Given the description of an element on the screen output the (x, y) to click on. 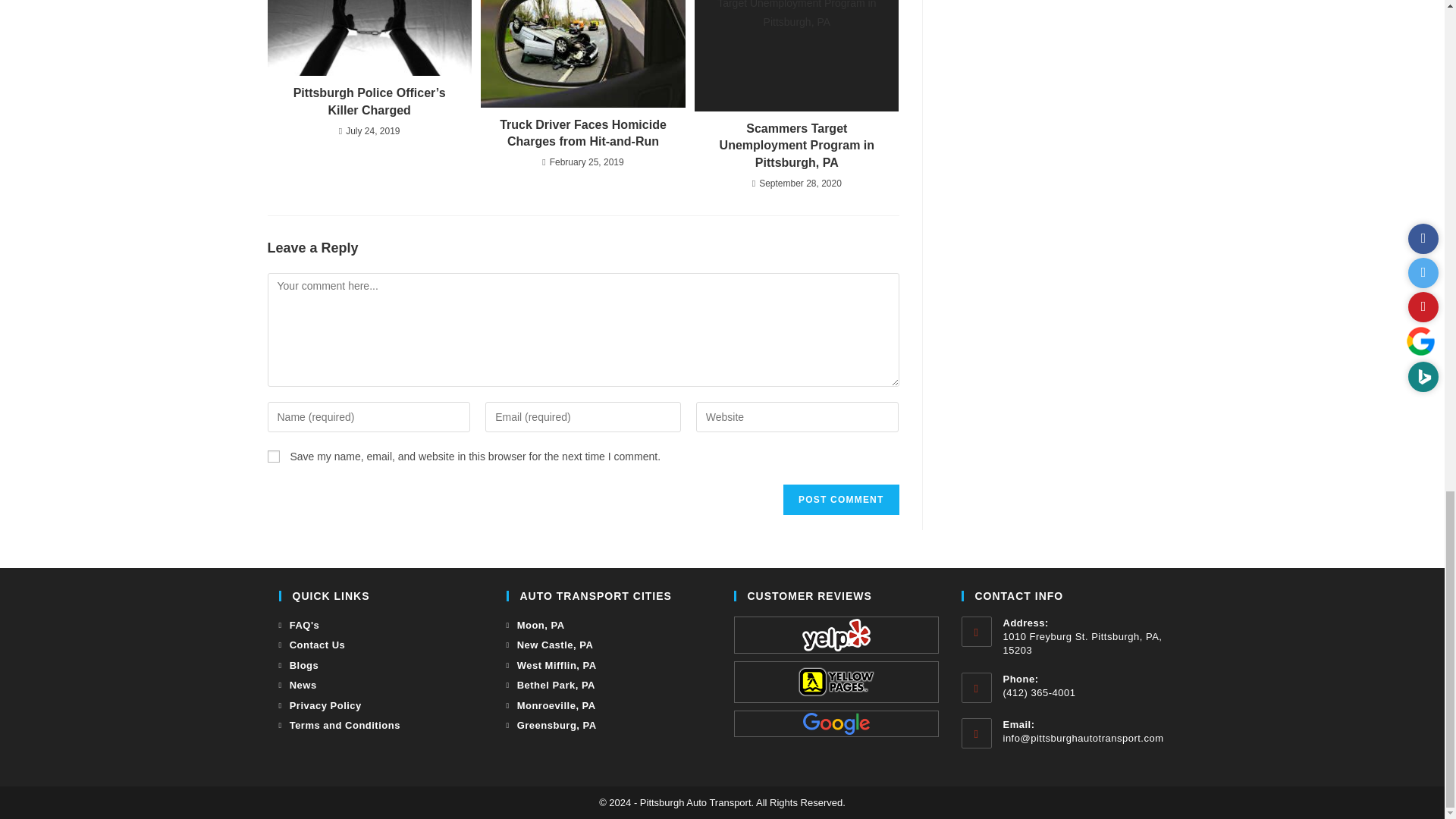
yes (272, 456)
Truck Driver Faces Homicide Charges from Hit-and-Run (582, 133)
Scammers Target Unemployment Program in Pittsburgh, PA (796, 145)
Yelp Reviews (836, 635)
Post Comment (840, 499)
Yellow Pages Reviews (835, 682)
Google Reviews (835, 723)
Post Comment (840, 499)
